Given the description of an element on the screen output the (x, y) to click on. 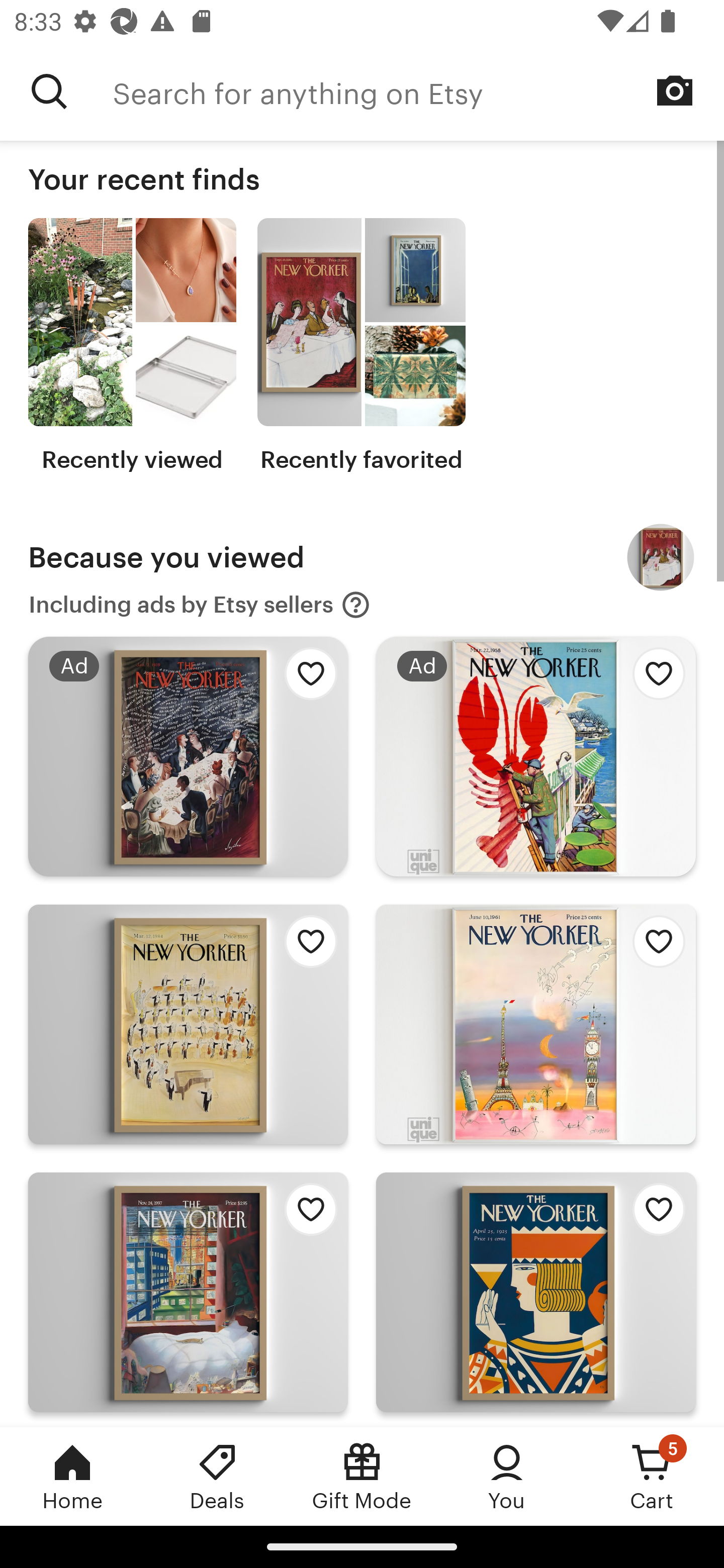
Search for anything on Etsy (49, 91)
Search by image (674, 90)
Search for anything on Etsy (418, 91)
Recently viewed (132, 345)
Recently favorited (361, 345)
Including ads by Etsy sellers (199, 604)
Deals (216, 1475)
Gift Mode (361, 1475)
You (506, 1475)
Cart, 5 new notifications Cart (651, 1475)
